Given the description of an element on the screen output the (x, y) to click on. 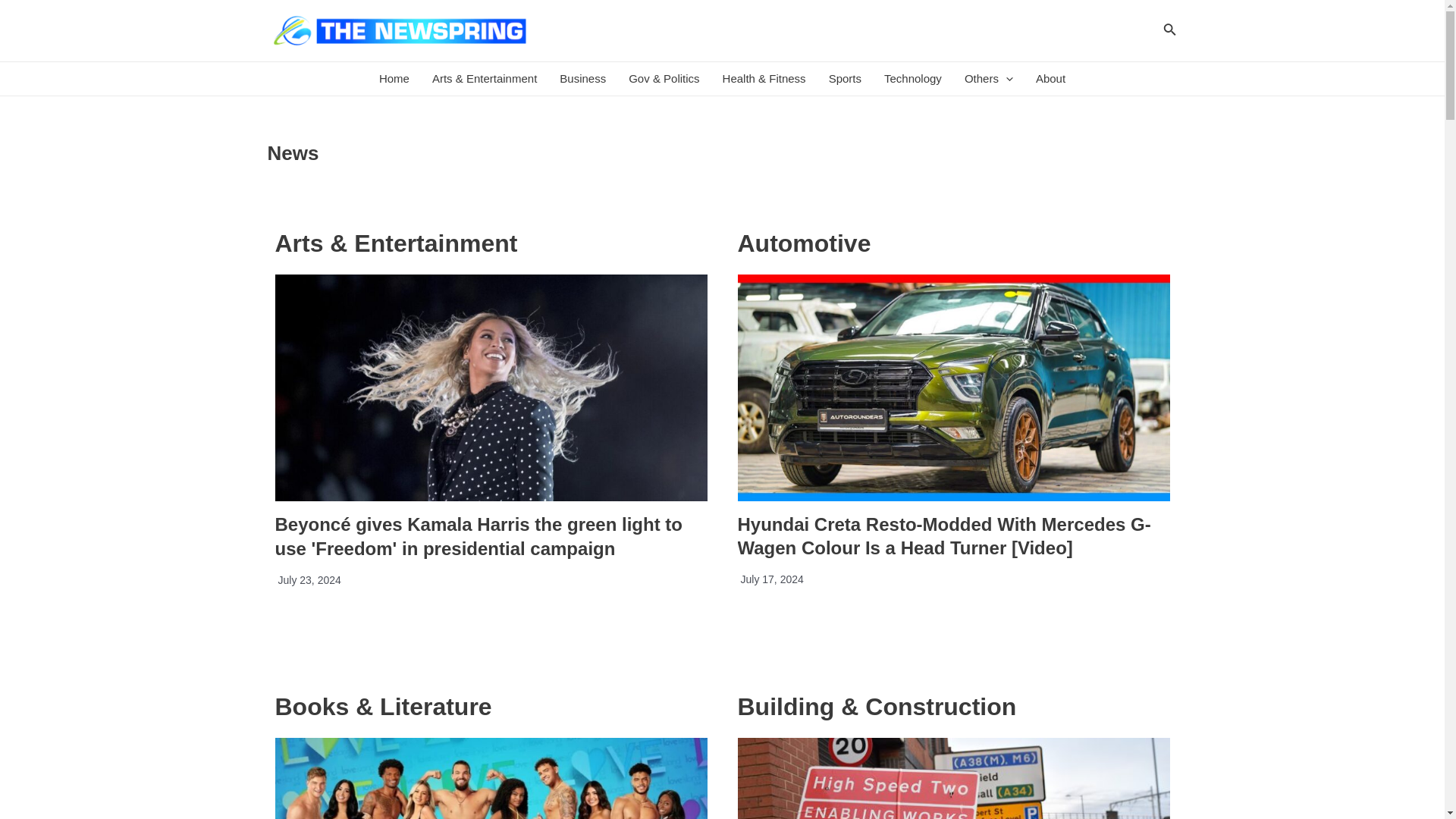
Others (989, 78)
Business (582, 78)
About (1051, 78)
Technology (912, 78)
Sports (844, 78)
Home (394, 78)
